Given the description of an element on the screen output the (x, y) to click on. 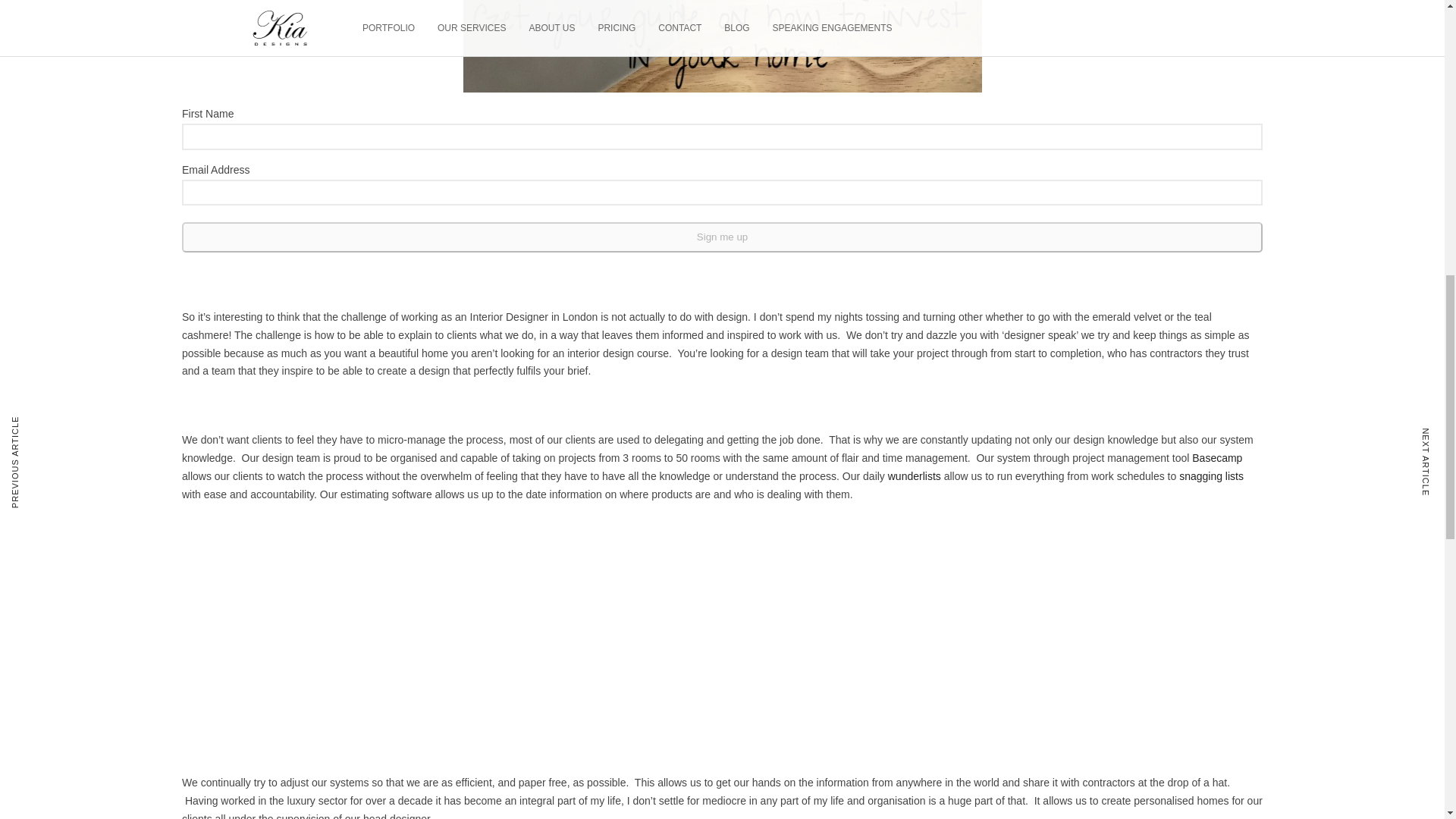
wunderlists (914, 476)
Sign me up (722, 236)
snagging lists (1211, 476)
Basecamp (1216, 458)
